Given the description of an element on the screen output the (x, y) to click on. 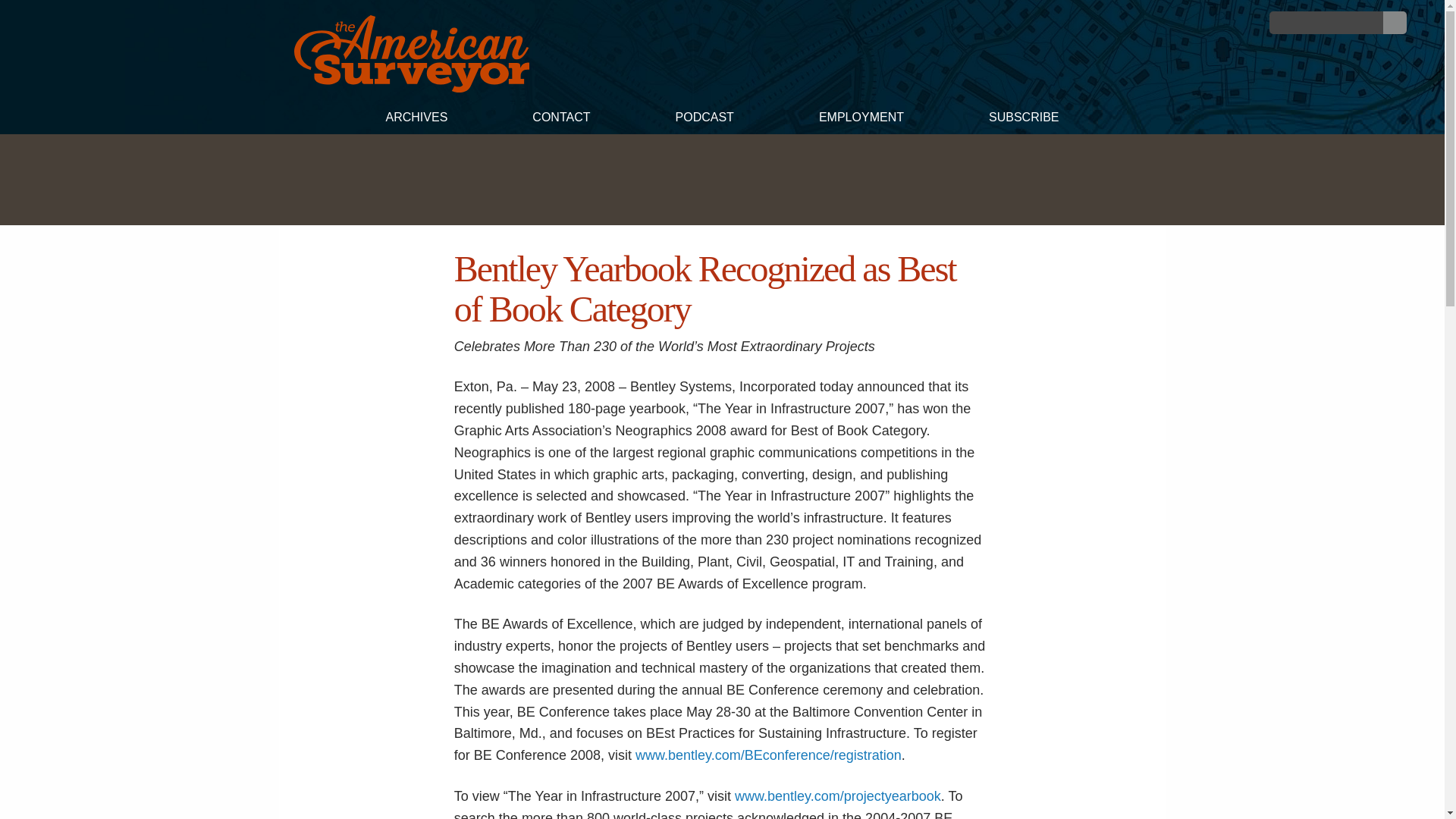
SUBSCRIBE (1024, 119)
3rd party ad content (721, 179)
Submit (1394, 22)
The American Surveyor (411, 88)
Submit (1394, 22)
Submit (1394, 22)
ARCHIVES (415, 119)
The American Surveyor (411, 53)
CONTACT (560, 119)
PODCAST (704, 119)
